Given the description of an element on the screen output the (x, y) to click on. 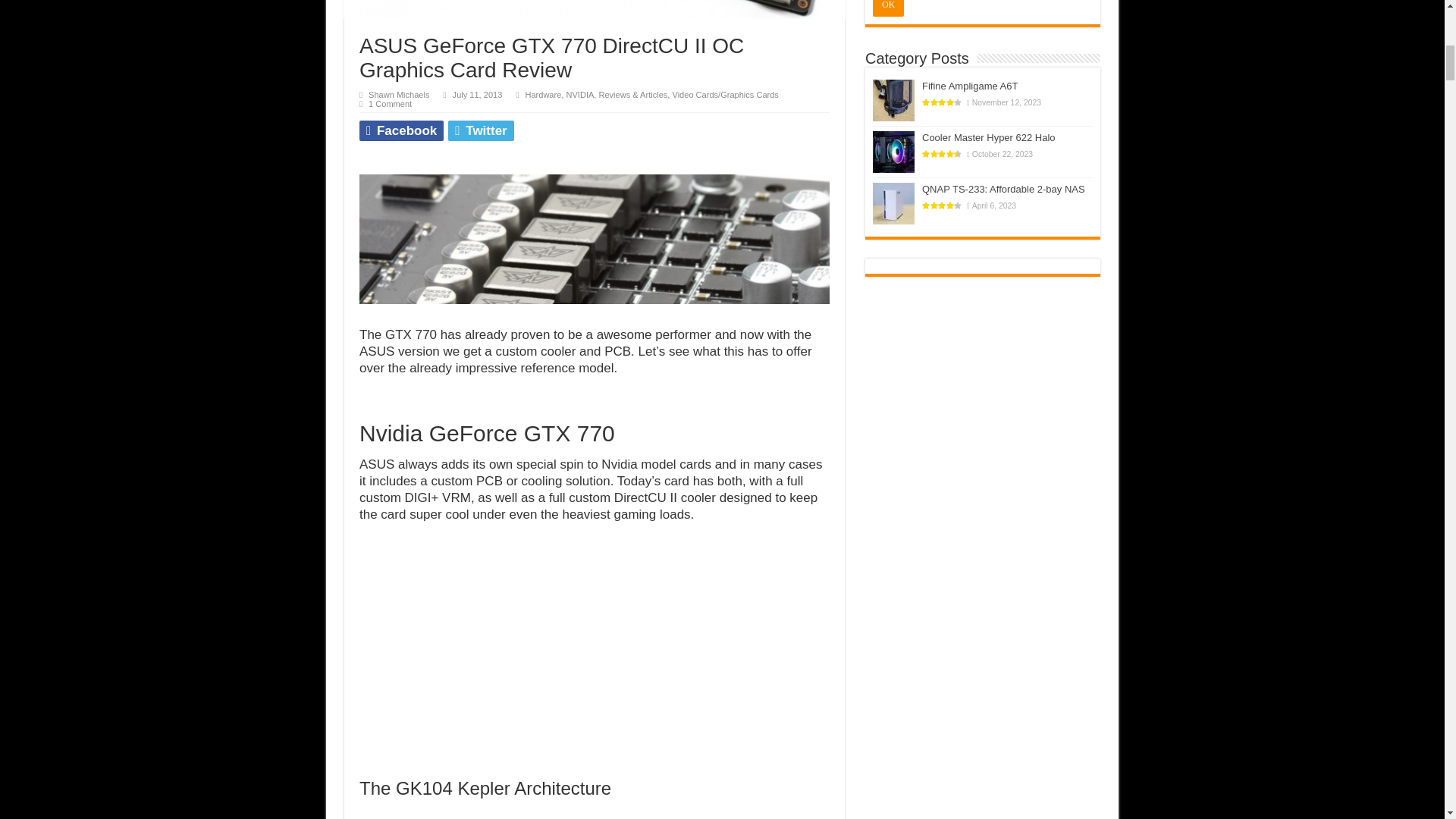
OK (888, 8)
